Given the description of an element on the screen output the (x, y) to click on. 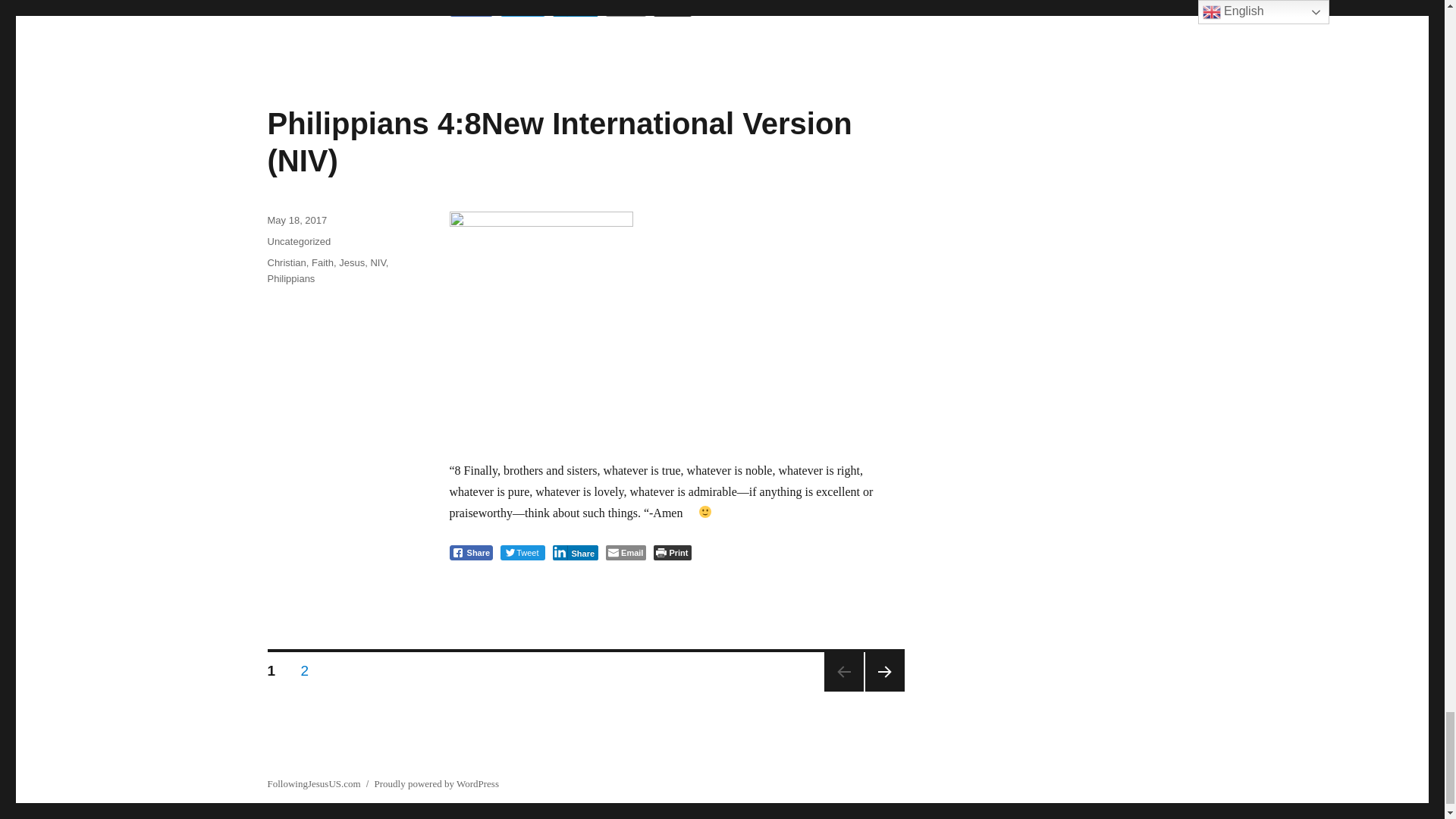
smile emoticon (698, 512)
